Given the description of an element on the screen output the (x, y) to click on. 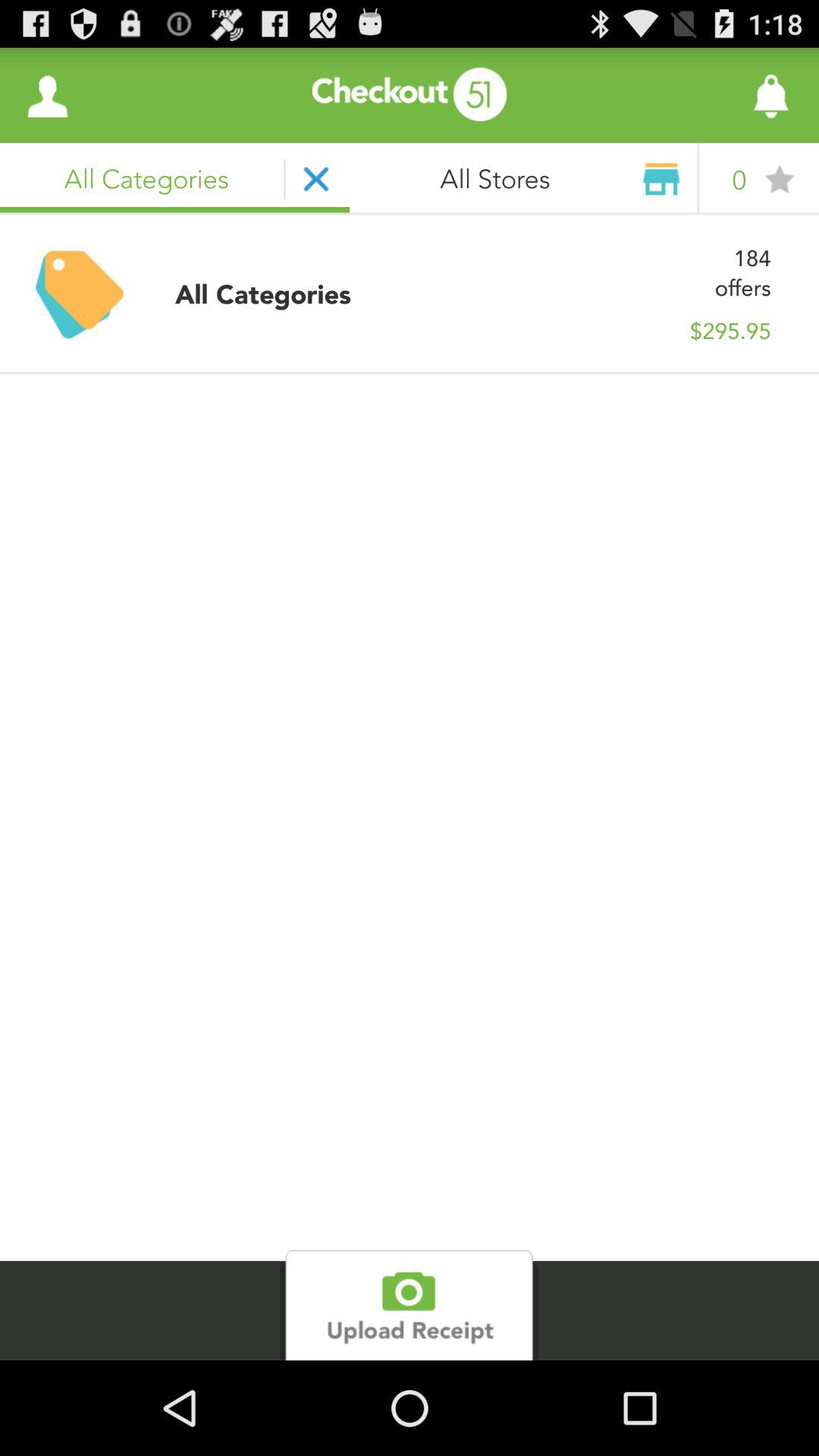
login to your account (47, 95)
